Given the description of an element on the screen output the (x, y) to click on. 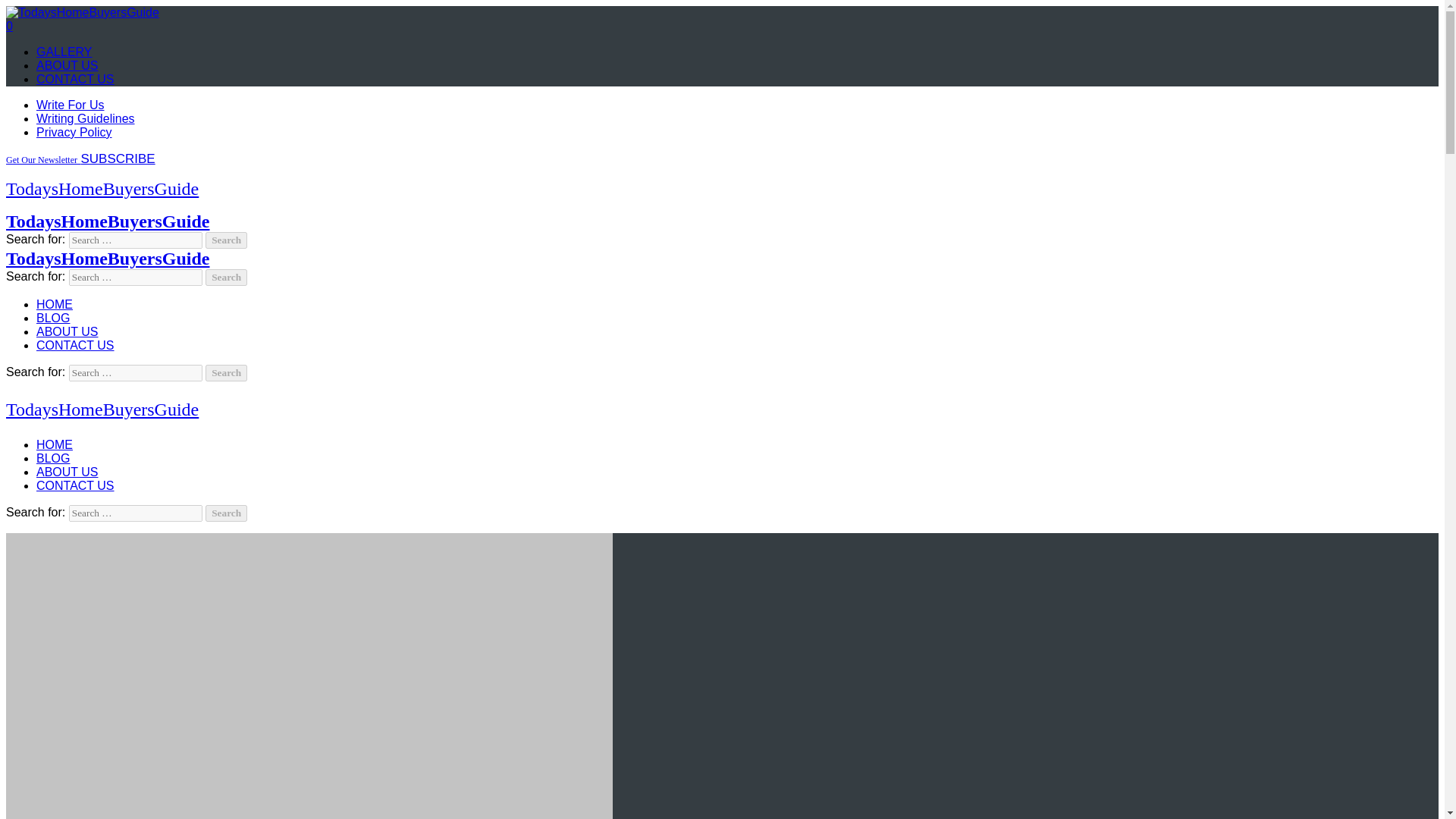
Search (226, 372)
TodaysHomeBuyersGuide (101, 409)
Search (226, 239)
CONTACT US (75, 78)
Search (226, 239)
TodaysHomeBuyersGuide (107, 258)
Write For Us (69, 104)
HOME (54, 444)
Privacy Policy (74, 132)
BLOG (52, 318)
Writing Guidelines (85, 118)
Search (226, 277)
TodaysHomeBuyersGuide (107, 220)
ABOUT US (67, 65)
BLOG (52, 458)
